Given the description of an element on the screen output the (x, y) to click on. 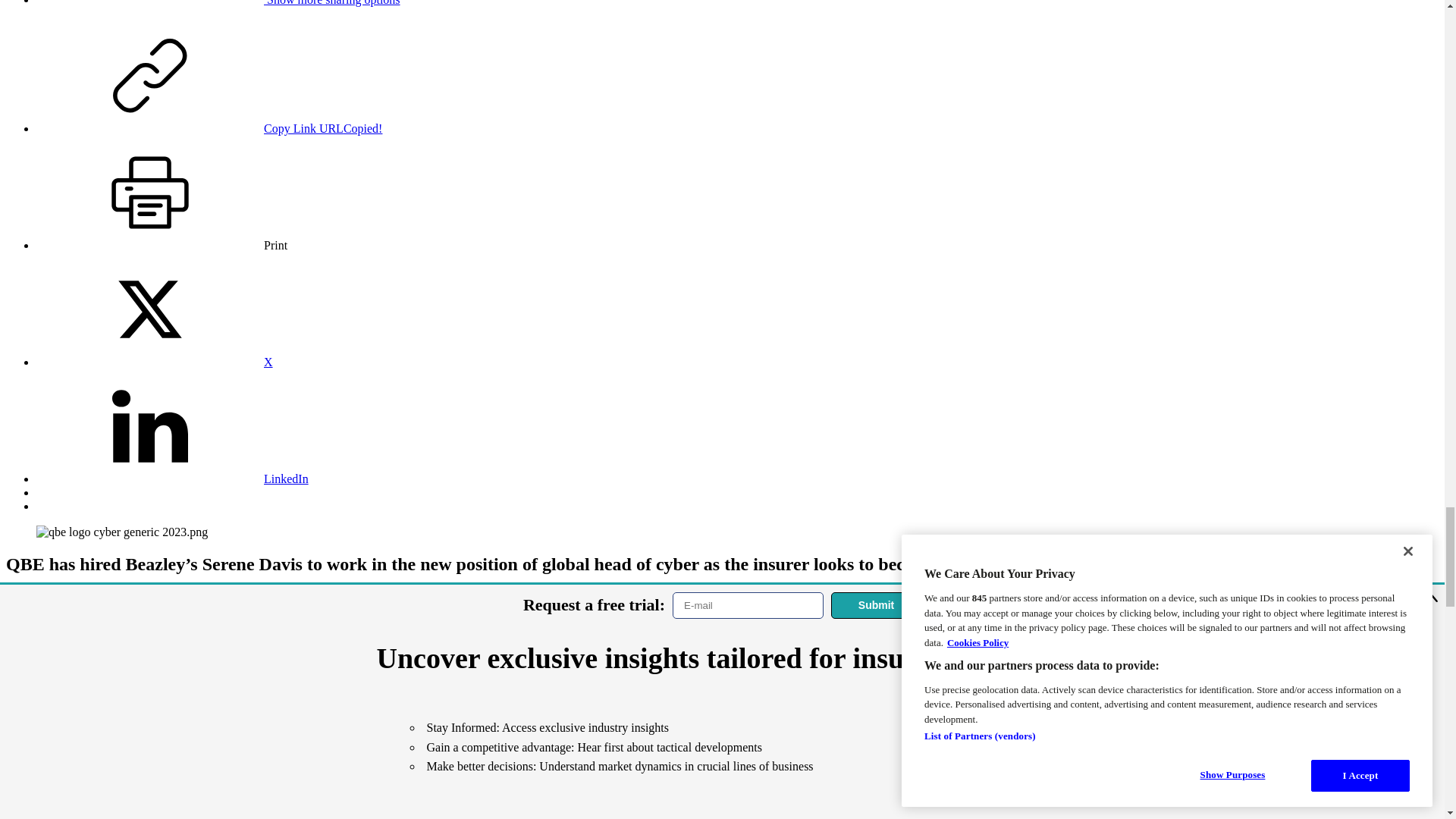
Share (218, 2)
